Given the description of an element on the screen output the (x, y) to click on. 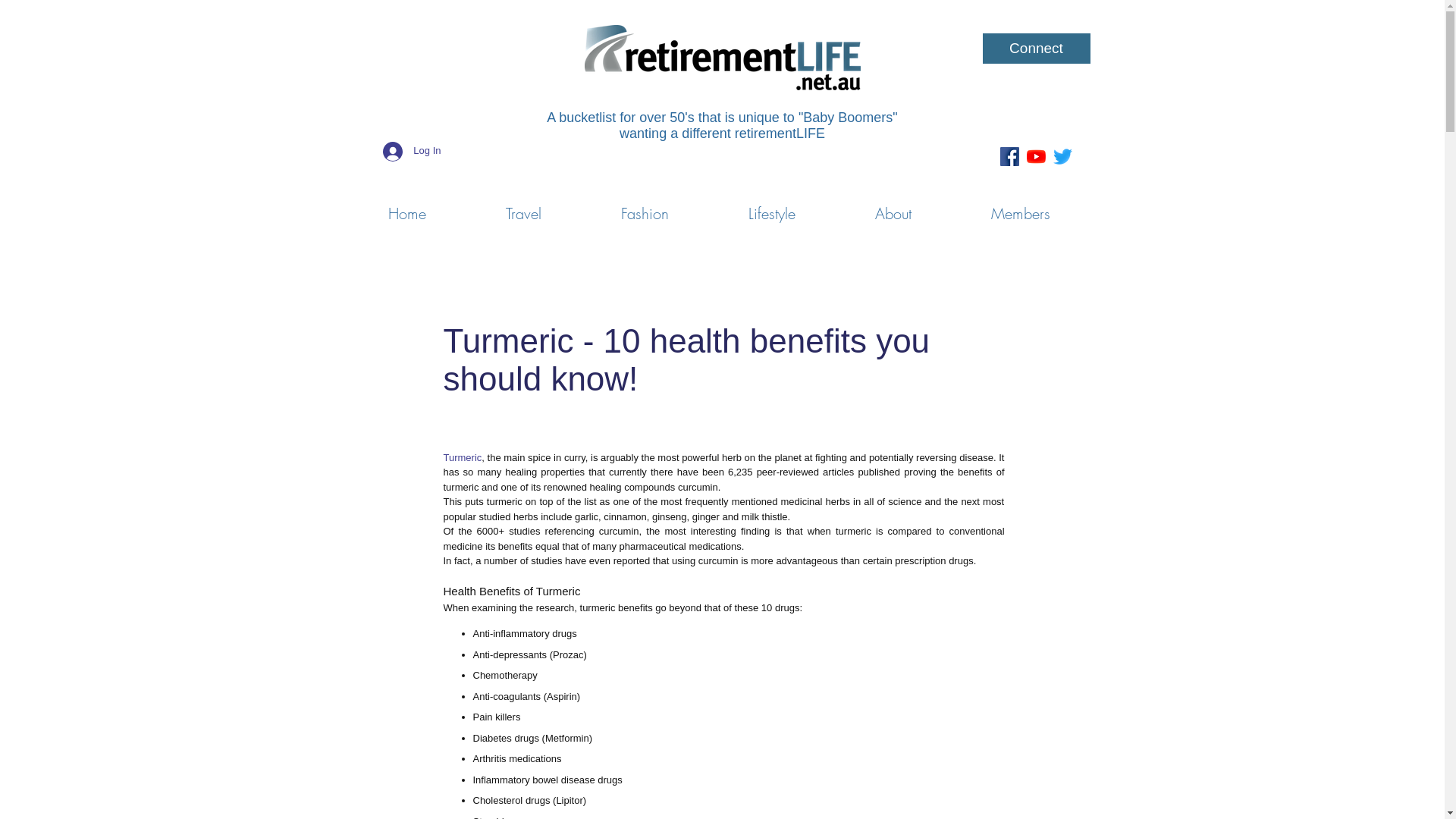
Connect Element type: text (1036, 48)
Turmeric Element type: text (461, 457)
About Element type: text (893, 206)
Fashion Element type: text (644, 206)
Lifestyle Element type: text (771, 206)
Members Element type: text (1019, 206)
Retirement-Life-Logo_rgb_web-744x176.png Element type: hover (722, 57)
Travel Element type: text (522, 206)
Home Element type: text (406, 206)
Log In Element type: text (411, 150)
